Given the description of an element on the screen output the (x, y) to click on. 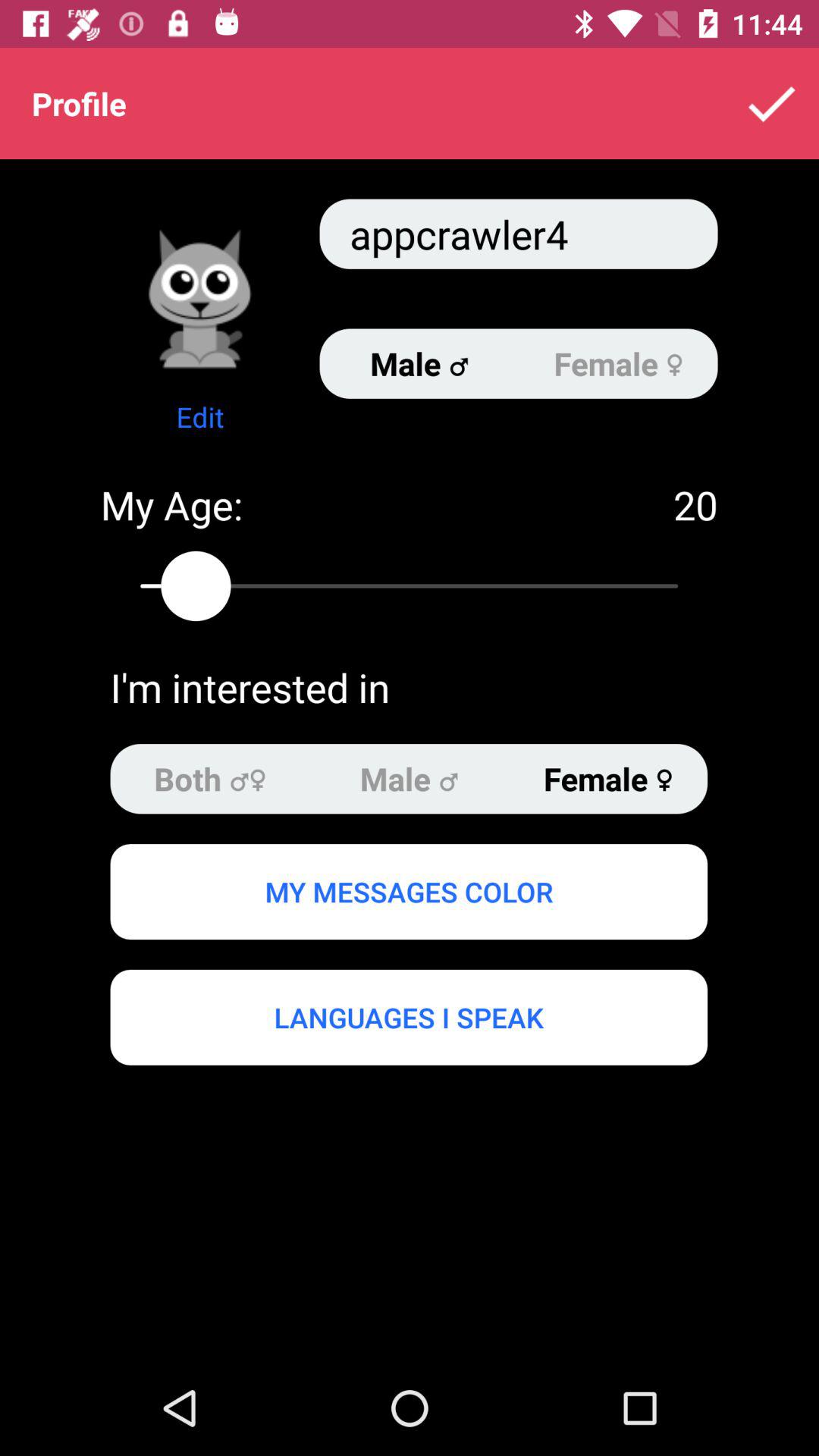
press the appcrawler4 (518, 234)
